Given the description of an element on the screen output the (x, y) to click on. 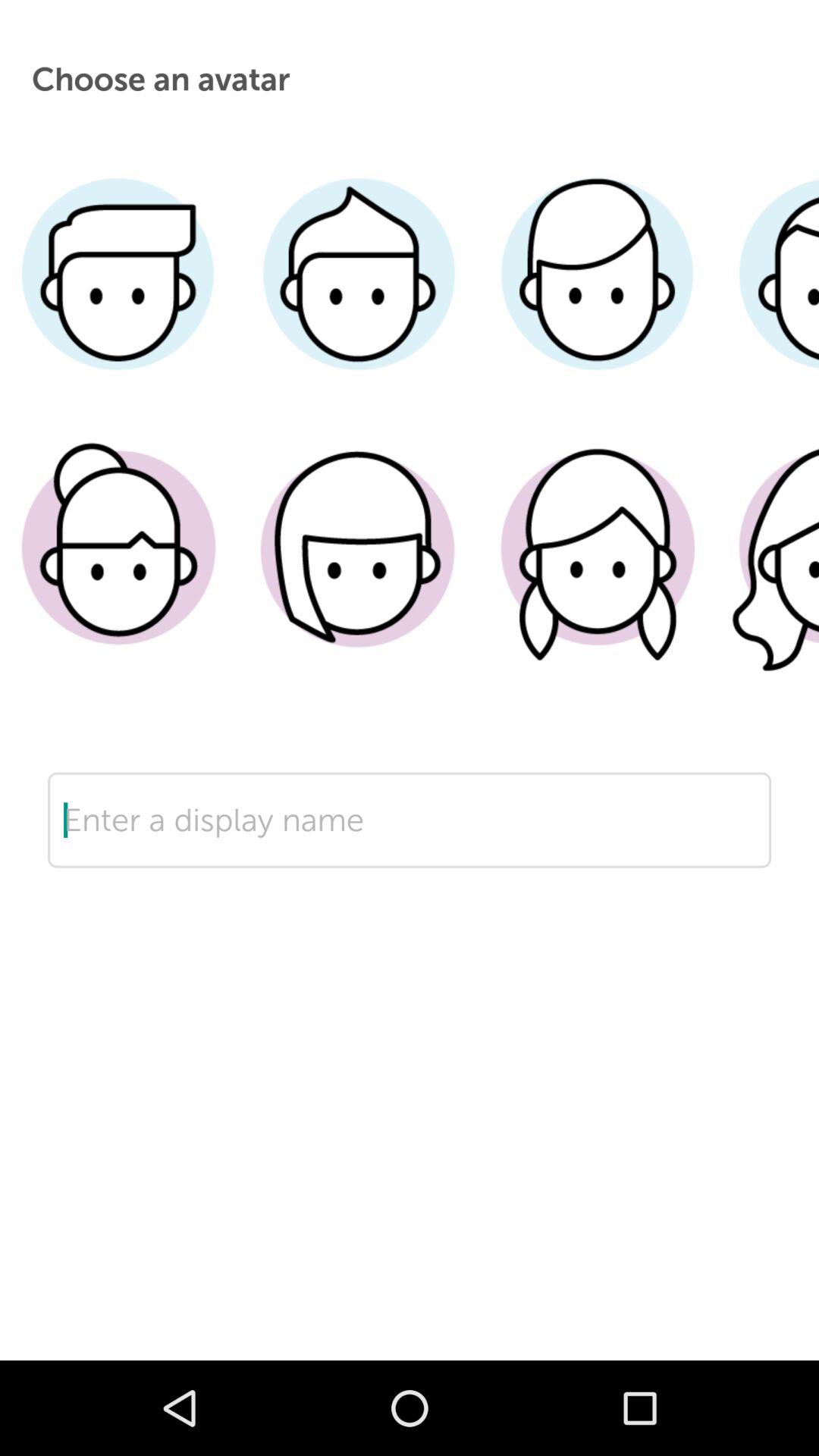
pick avatar (357, 570)
